Given the description of an element on the screen output the (x, y) to click on. 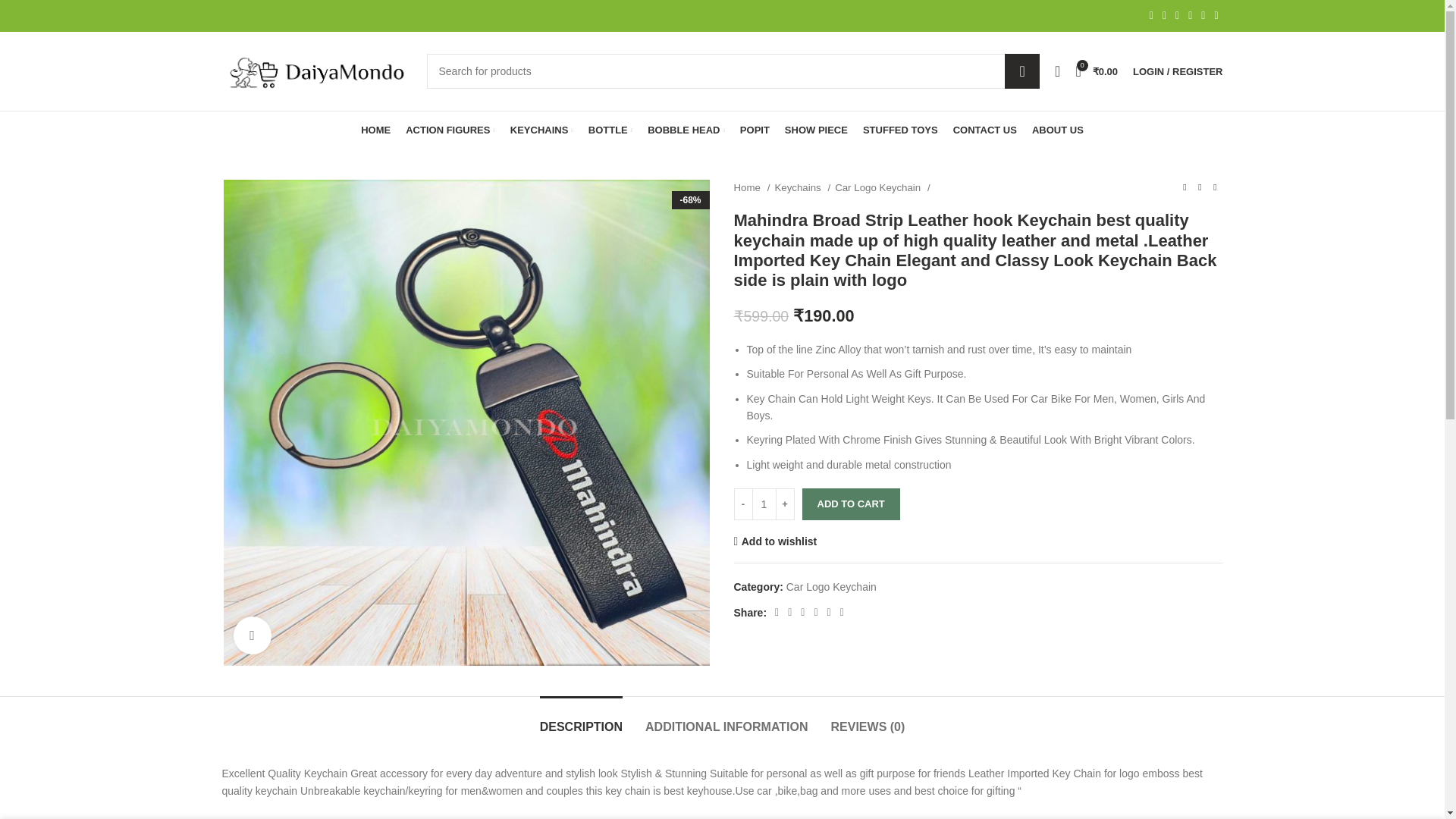
My account (1177, 71)
Shopping cart (1096, 71)
HOME (375, 130)
SEARCH (1021, 71)
Log in (1097, 312)
Search for products (732, 71)
KEYCHAINS (542, 130)
ACTION FIGURES (450, 130)
